Given the description of an element on the screen output the (x, y) to click on. 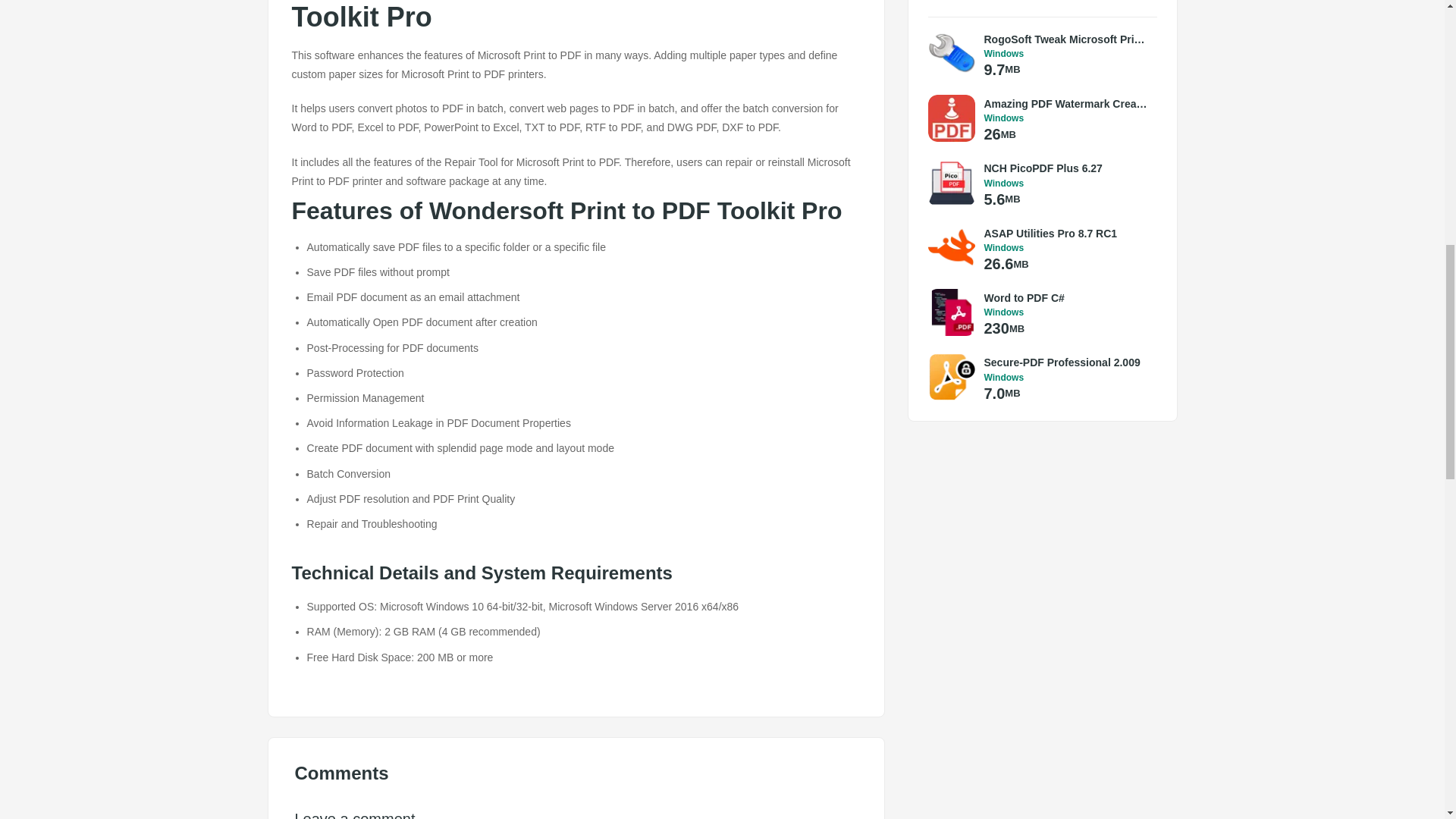
Amazing PDF Watermark Creator 11.8.0.0 (1066, 103)
Windows (1066, 377)
Windows (1066, 311)
Windows (1066, 117)
Windows (1066, 247)
ASAP Utilities Pro 8.7 RC1 (1066, 233)
RogoSoft Tweak Microsoft Print to PDF 5.0.0.1696 (1066, 39)
Secure-PDF Professional 2.009 (1066, 362)
Windows (1066, 53)
Windows (1066, 183)
